Given the description of an element on the screen output the (x, y) to click on. 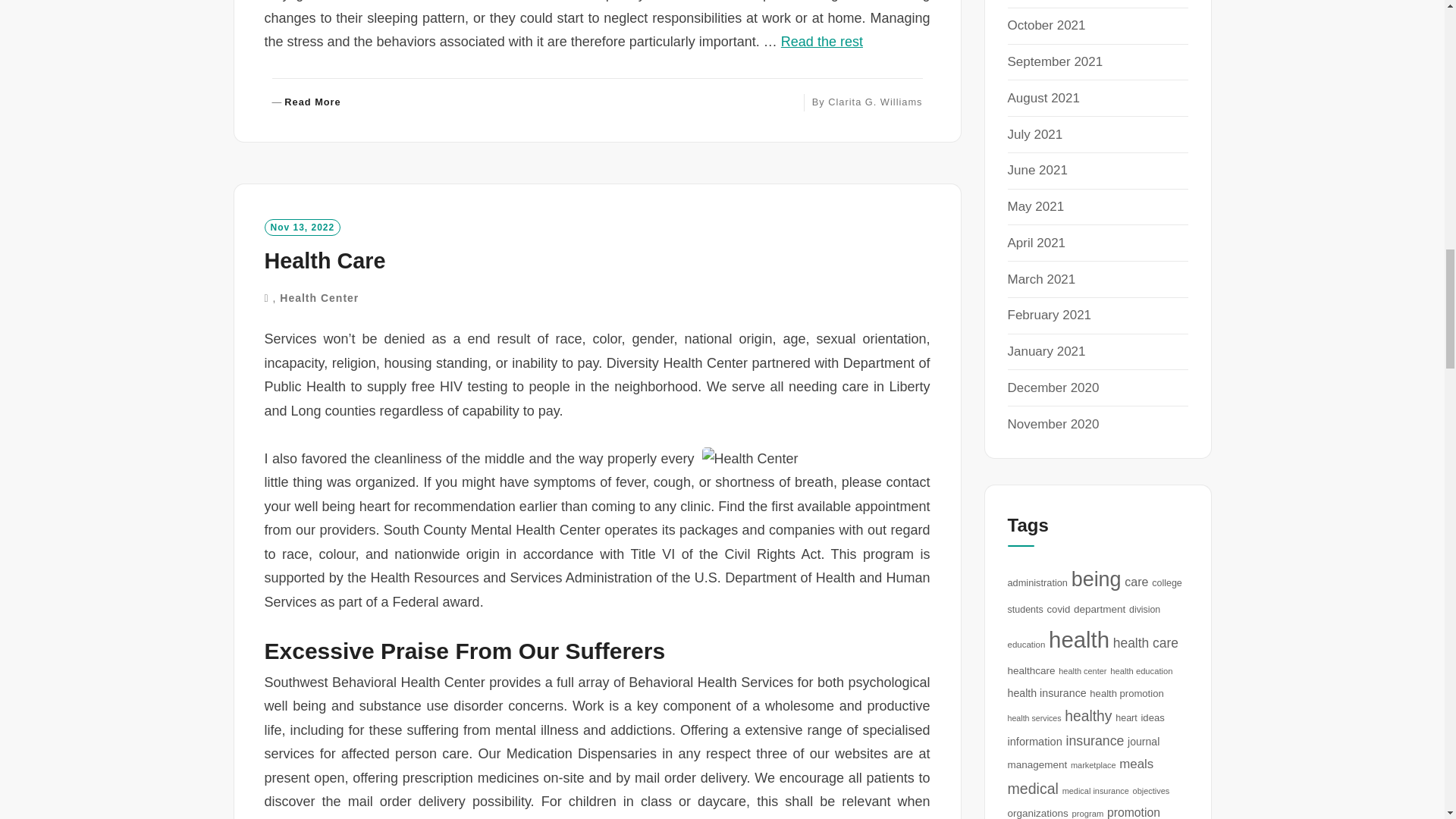
Read the rest (305, 102)
Clarita G. Williams (821, 41)
